Given the description of an element on the screen output the (x, y) to click on. 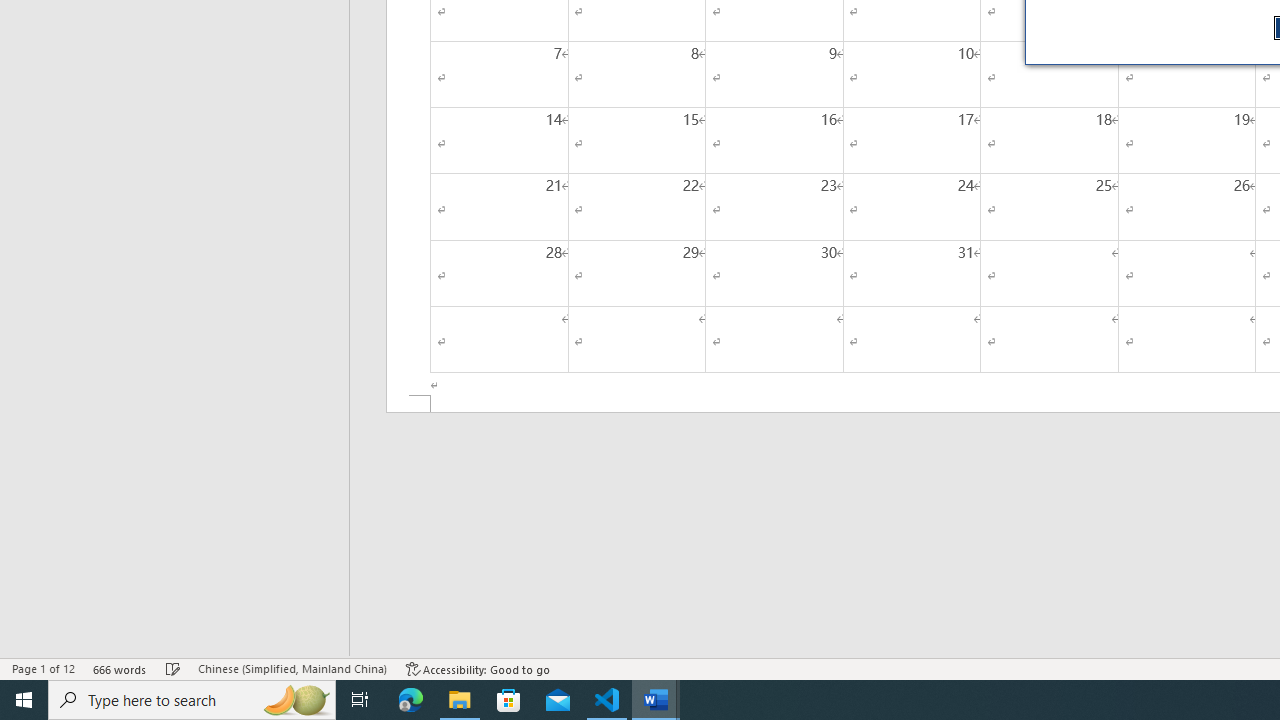
Microsoft Store (509, 699)
Start (24, 699)
Search highlights icon opens search home window (295, 699)
Task View (359, 699)
Page Number Page 1 of 12 (43, 668)
Word Count 666 words (119, 668)
Type here to search (191, 699)
Microsoft Edge (411, 699)
File Explorer - 1 running window (460, 699)
Spelling and Grammar Check Checking (173, 668)
Visual Studio Code - 1 running window (607, 699)
Word - 2 running windows (656, 699)
